Given the description of an element on the screen output the (x, y) to click on. 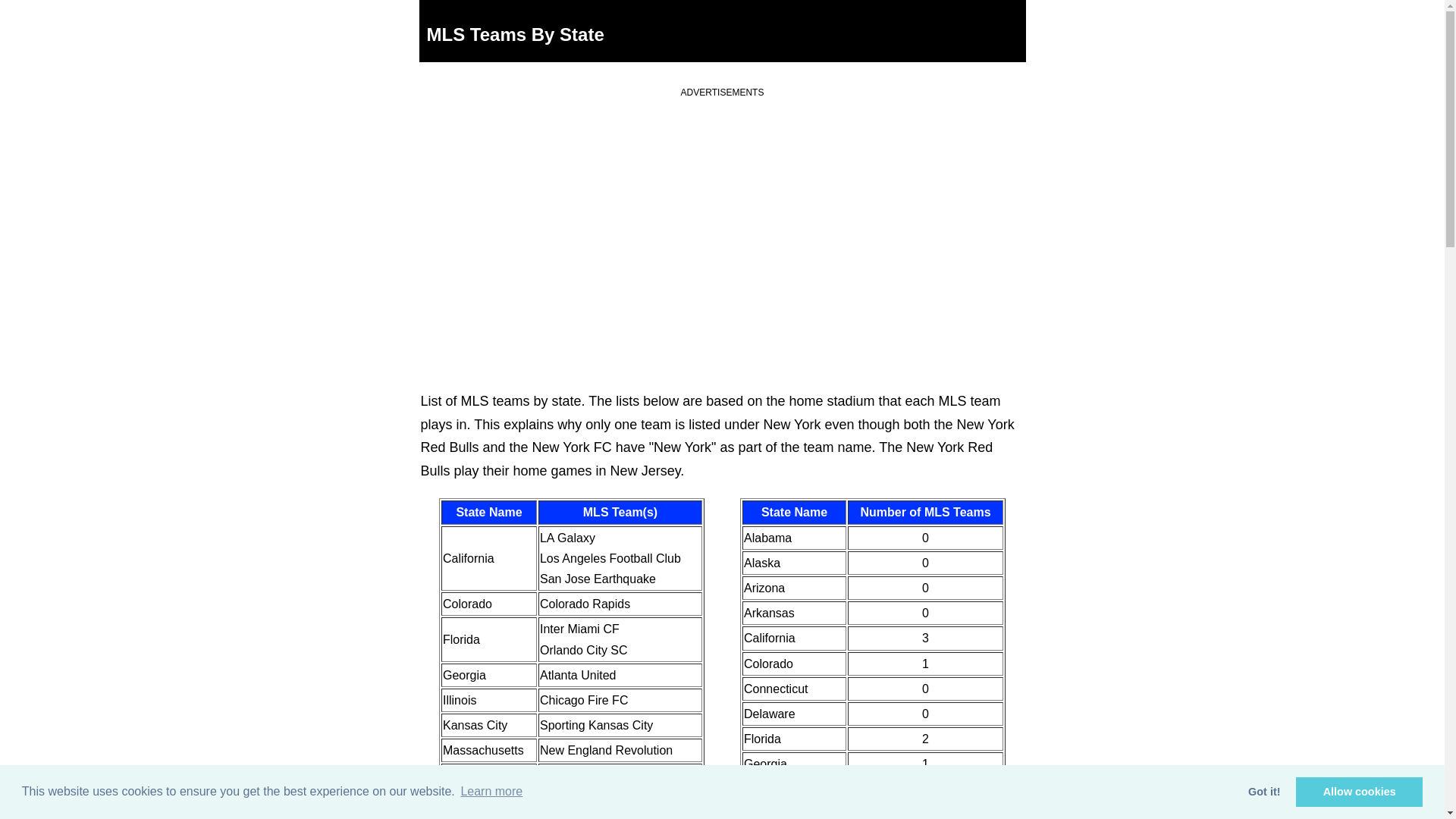
Allow cookies Element type: text (1358, 791)
Learn more Element type: text (491, 791)
Got it! Element type: text (1264, 791)
